Given the description of an element on the screen output the (x, y) to click on. 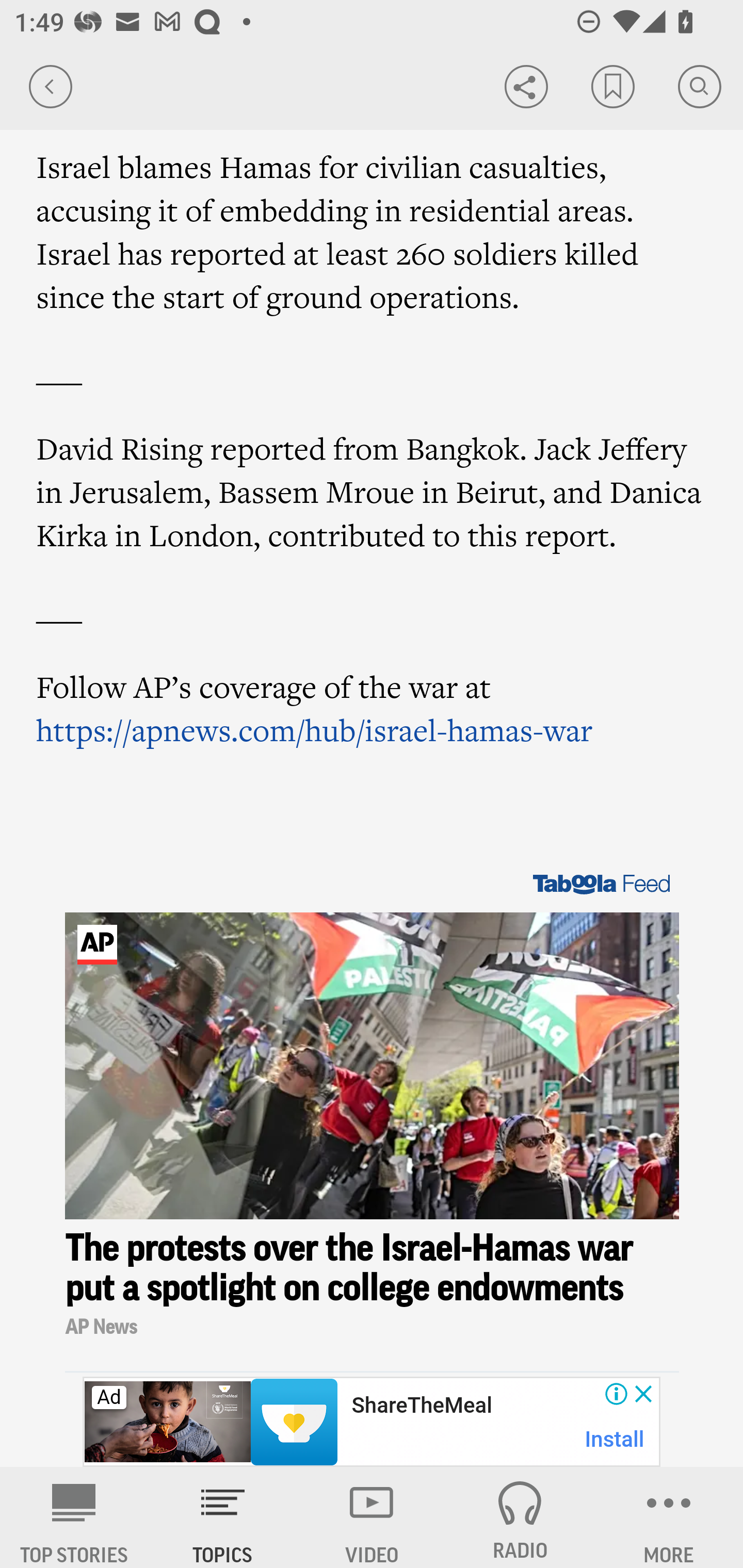
https://apnews.com/hub/israel-hamas-war (314, 728)
Image for Taboola Advertising Unit (372, 1066)
AP News in Taboola advertising section AP News (372, 1328)
ShareTheMeal (420, 1405)
Install (614, 1438)
AP News TOP STORIES (74, 1517)
TOPICS (222, 1517)
VIDEO (371, 1517)
RADIO (519, 1517)
MORE (668, 1517)
